Given the description of an element on the screen output the (x, y) to click on. 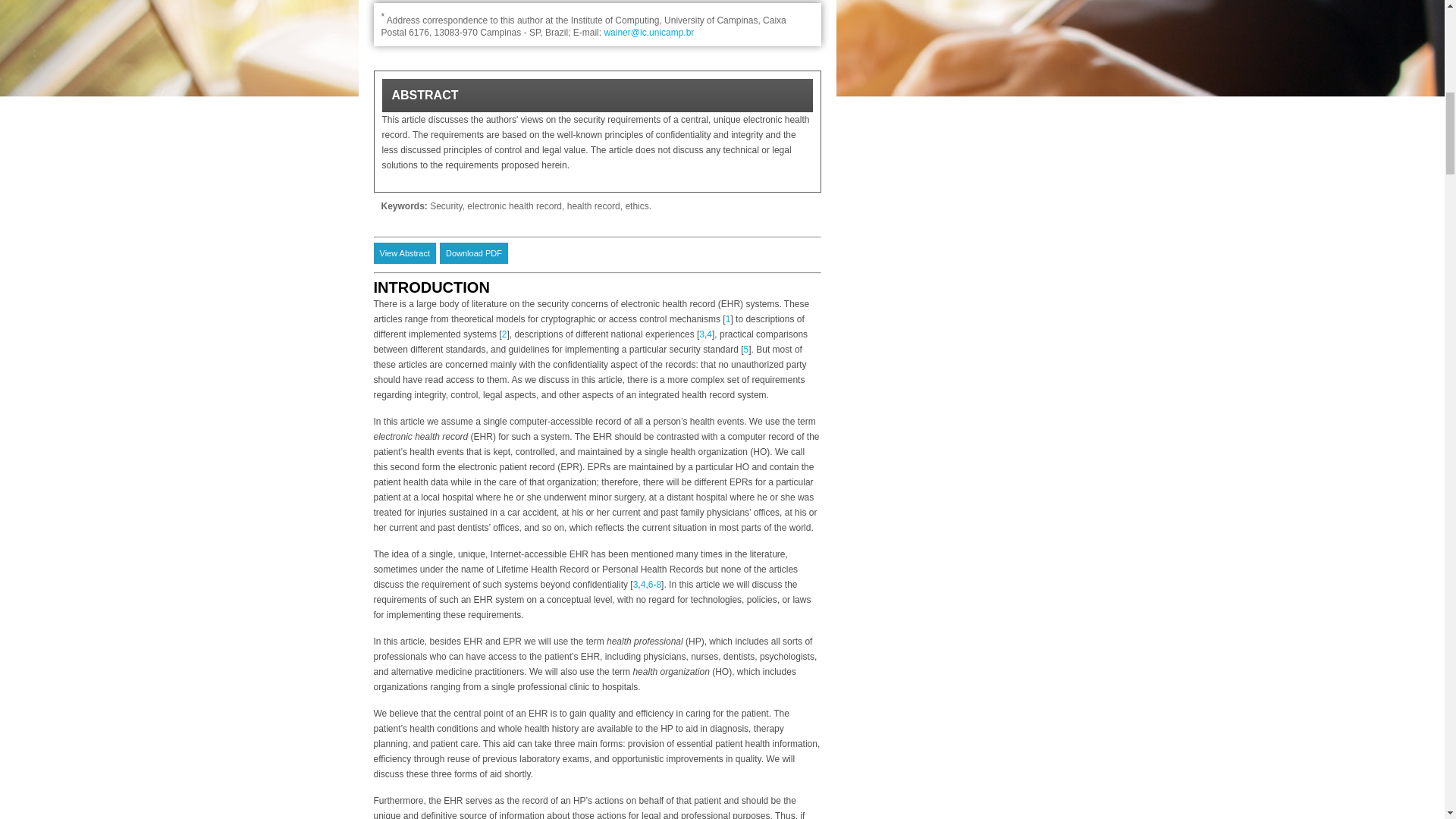
View Abstract (403, 252)
Download PDF (473, 252)
